Given the description of an element on the screen output the (x, y) to click on. 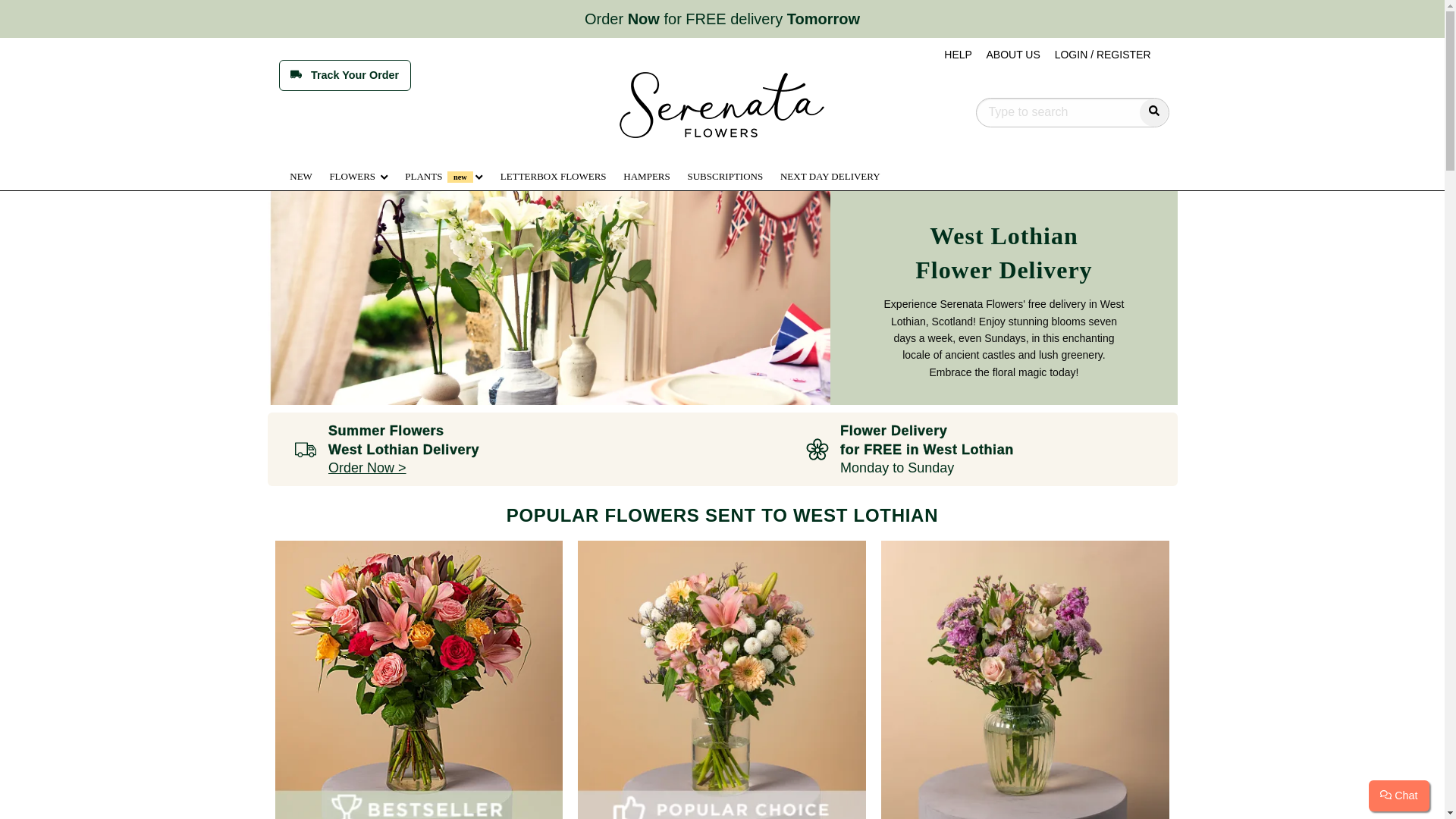
New Flowers (301, 175)
HELP (960, 54)
  Track Your Order (344, 74)
FLOWERS  (359, 175)
NEW (301, 175)
Serenata Flowers (721, 104)
Flowers (359, 175)
Track Your Order (344, 74)
Help (960, 54)
About Us (1015, 54)
Serenata Flowers (721, 104)
ABOUT US (1015, 54)
Flowers (359, 174)
